Given the description of an element on the screen output the (x, y) to click on. 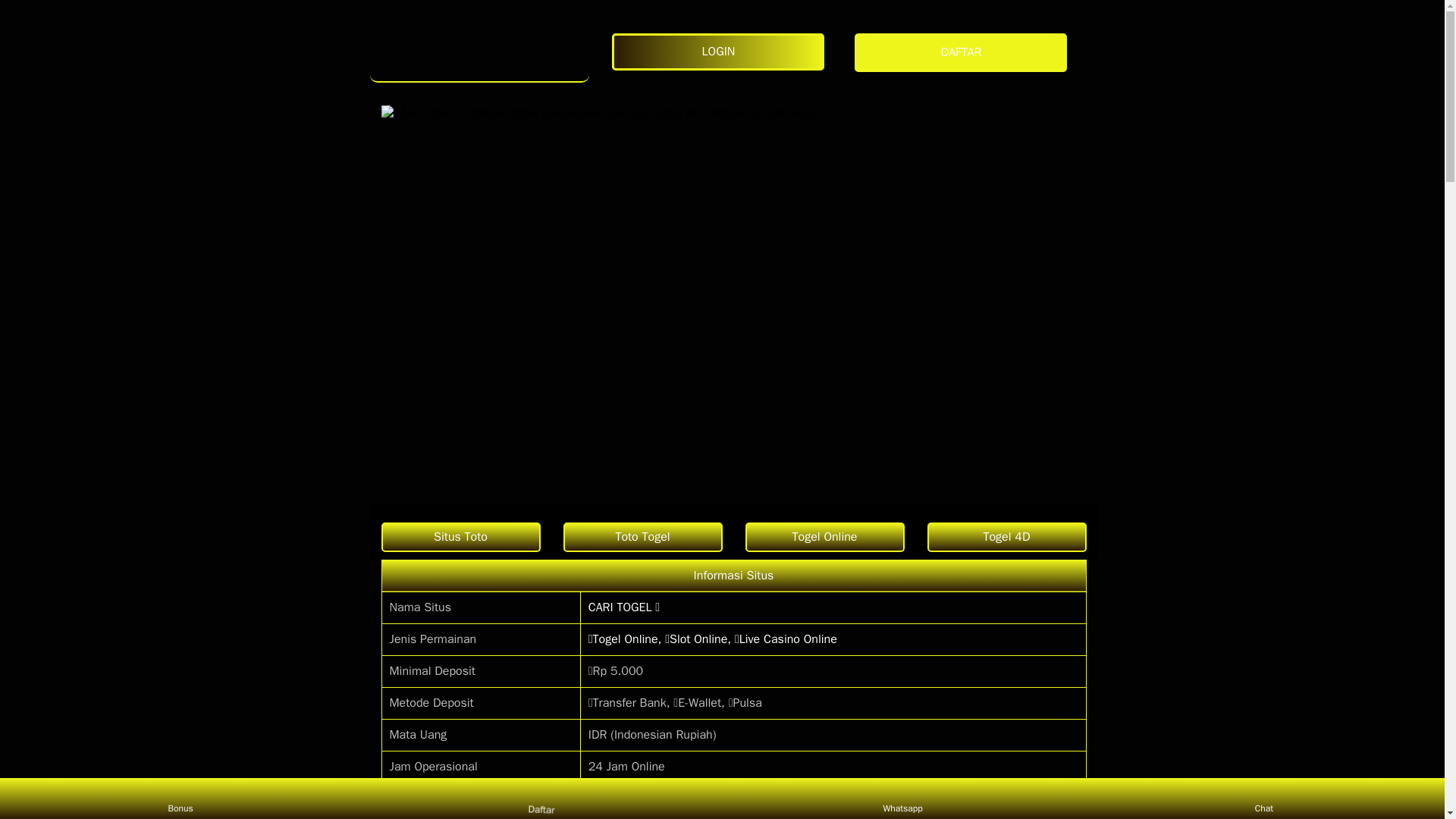
Situs Toto (460, 537)
DAFTAR (964, 52)
CARI TOGEL (479, 52)
Togel 4D (1006, 537)
Bonus (180, 797)
Togel Online (824, 537)
LOGIN (721, 51)
Chat (1263, 797)
Toto Togel (642, 537)
Situs Toto (460, 537)
Togel 4D (1006, 537)
Whatsapp (903, 797)
Toto Togel (642, 537)
Togel Online (824, 537)
Daftar (537, 795)
